Given the description of an element on the screen output the (x, y) to click on. 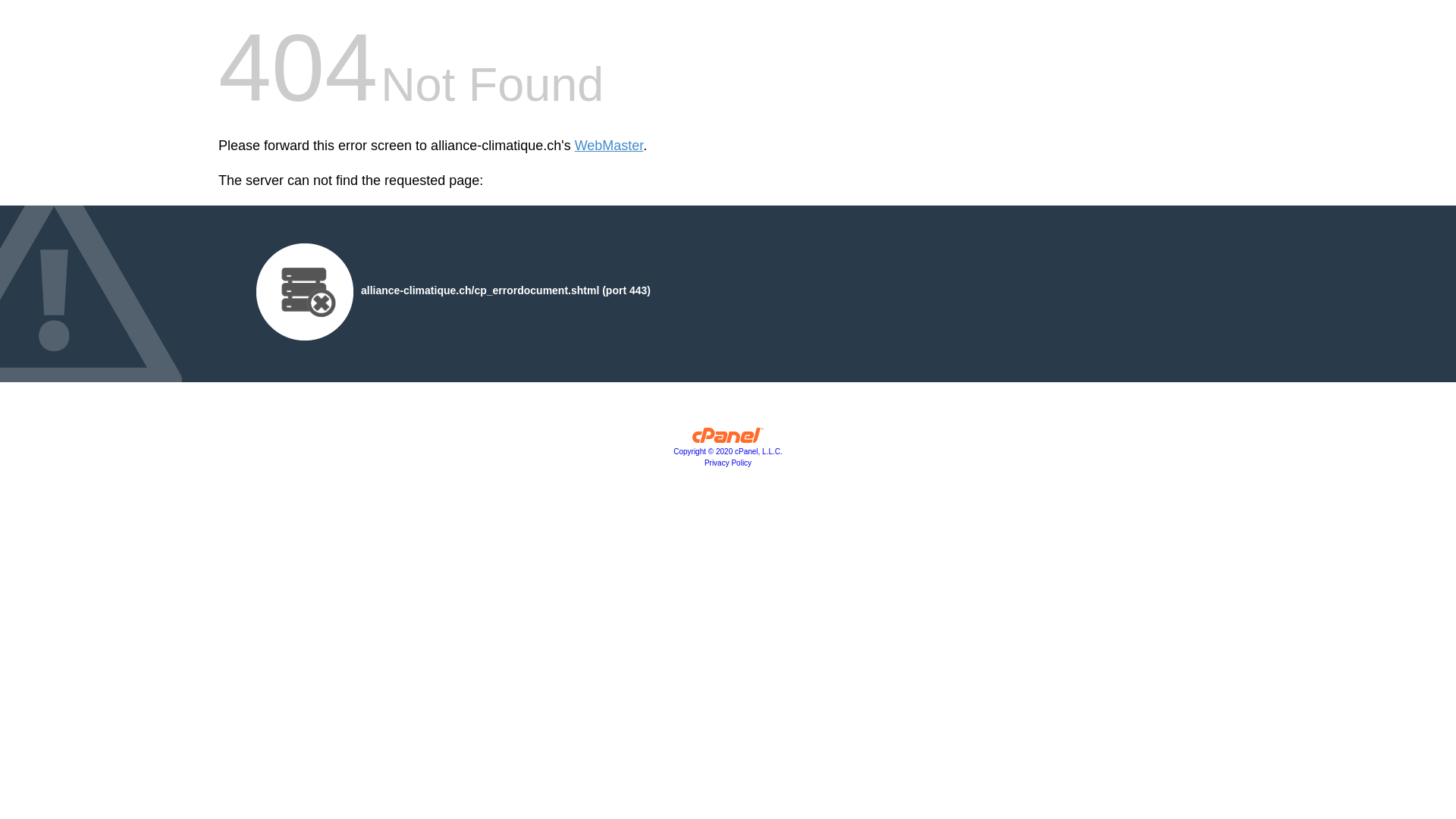
cPanel, Inc. Element type: hover (728, 439)
WebMaster Element type: text (608, 145)
Privacy Policy Element type: text (727, 462)
